Given the description of an element on the screen output the (x, y) to click on. 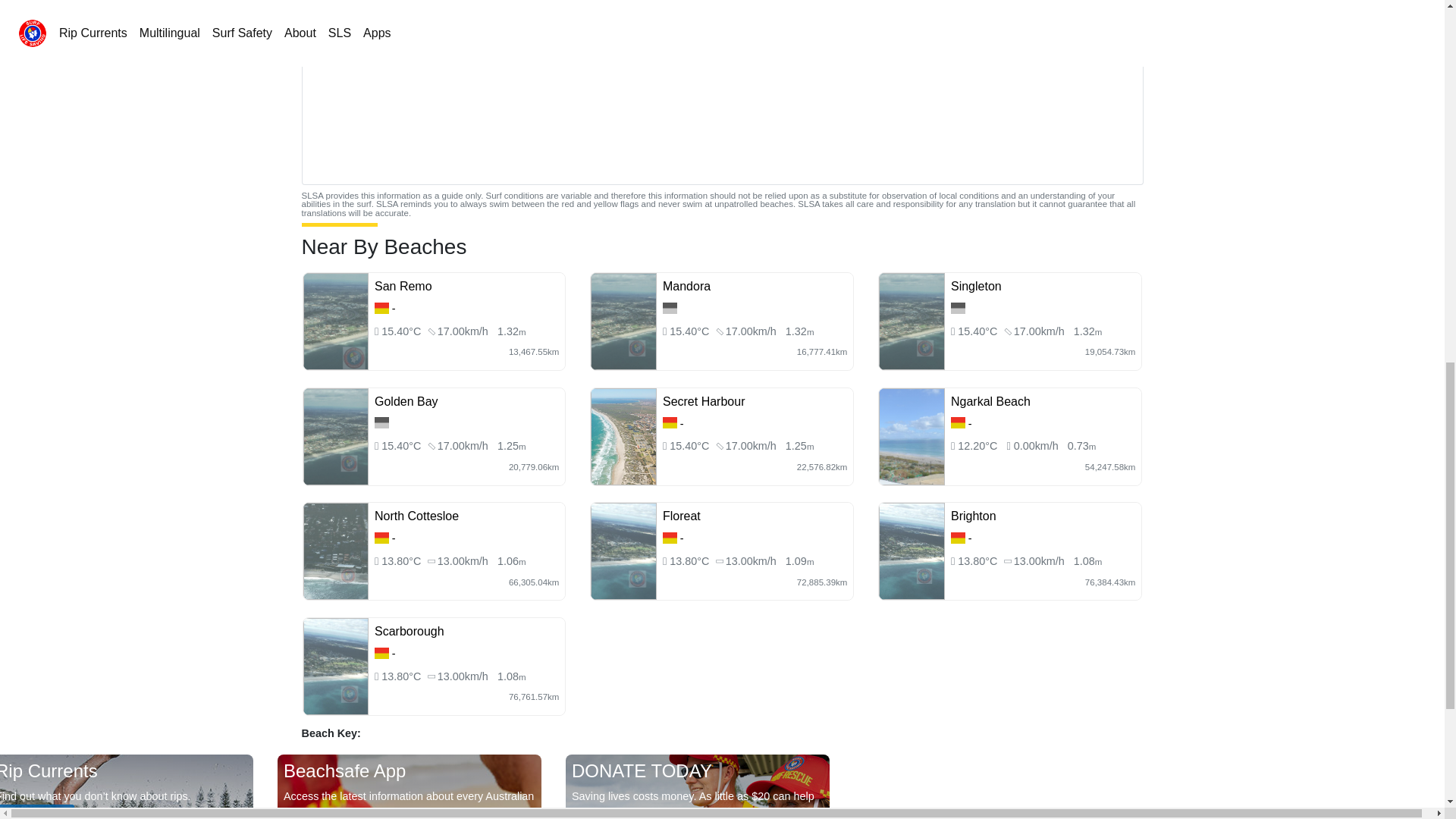
Sunny. (978, 331)
Swell (799, 331)
Swell (511, 331)
Wind Speed (462, 445)
Wind Speed (462, 331)
Wind Speed (750, 331)
Swell (511, 445)
Swell (1088, 331)
Wind Speed (1039, 331)
Sunny. (689, 331)
Find out more (37, 811)
Sunny. (401, 445)
Sunny. (401, 331)
Sunny. (689, 445)
